Given the description of an element on the screen output the (x, y) to click on. 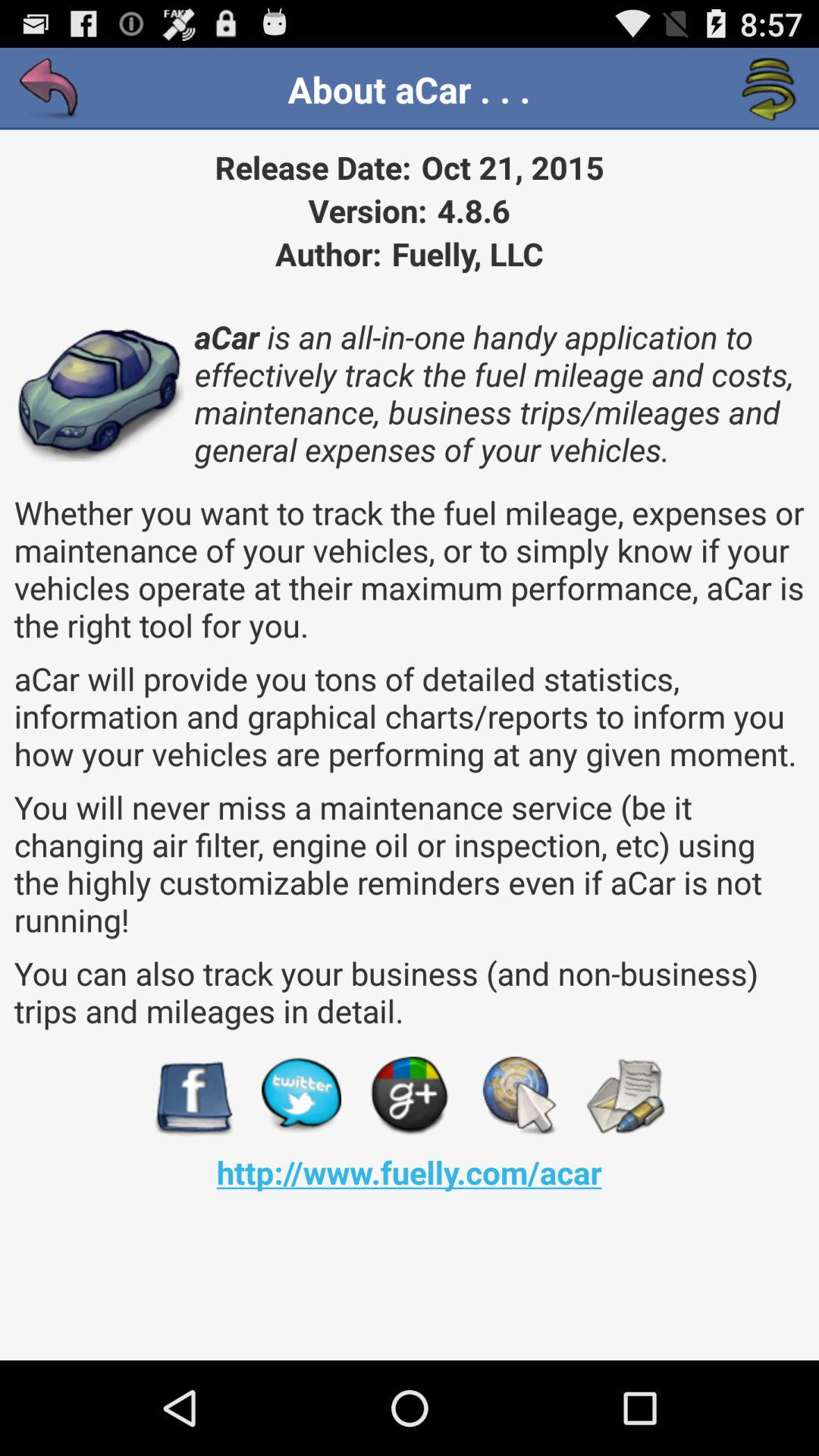
visit facebook page (193, 1096)
